Given the description of an element on the screen output the (x, y) to click on. 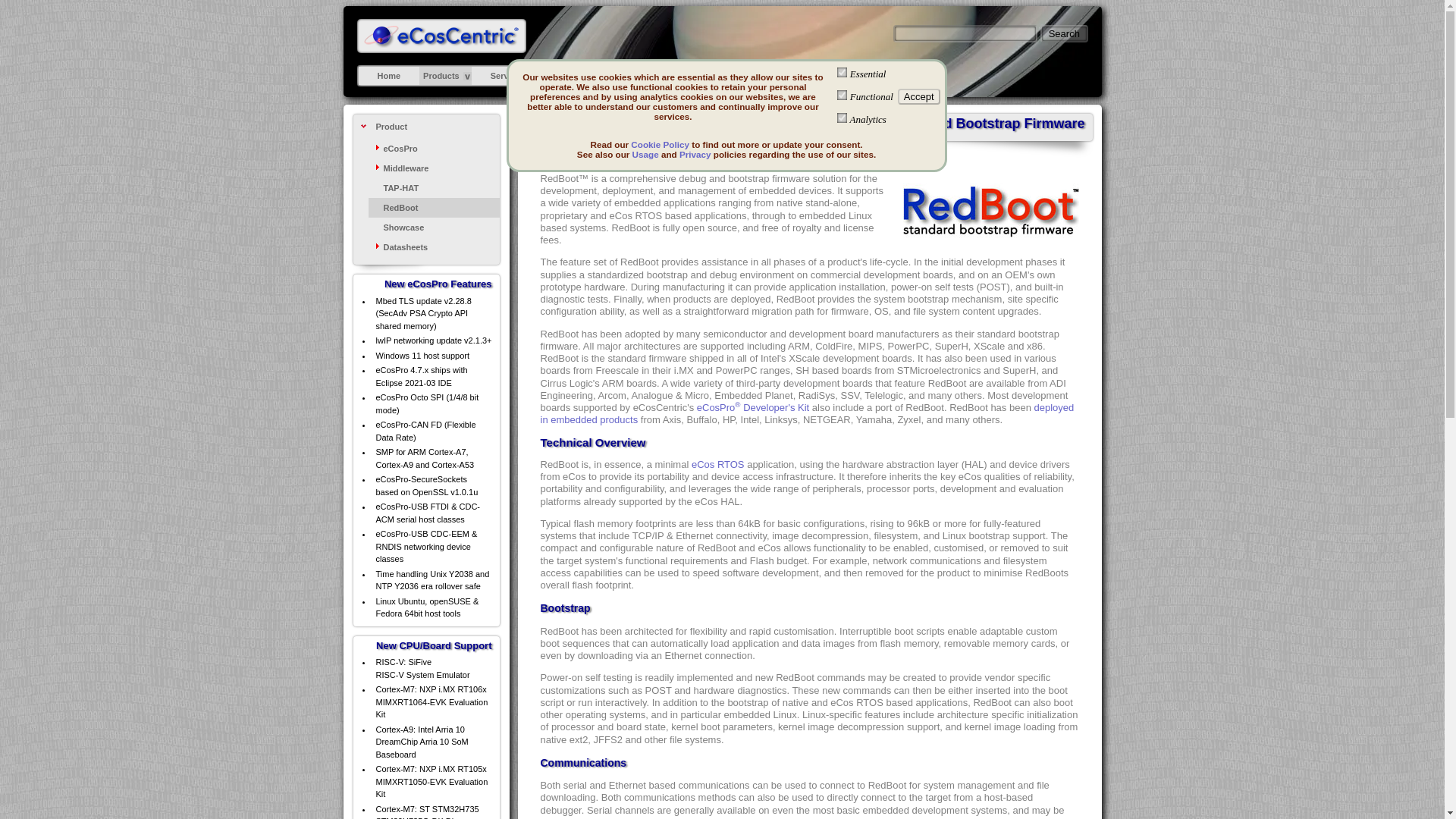
Accept (919, 96)
on (842, 71)
Home (389, 75)
Support (572, 75)
DevZone (635, 75)
News (696, 75)
on (842, 94)
Company (809, 75)
 Search  (1064, 33)
 Search  (1064, 33)
Privacy (695, 153)
Usage (645, 153)
Services (507, 75)
